Given the description of an element on the screen output the (x, y) to click on. 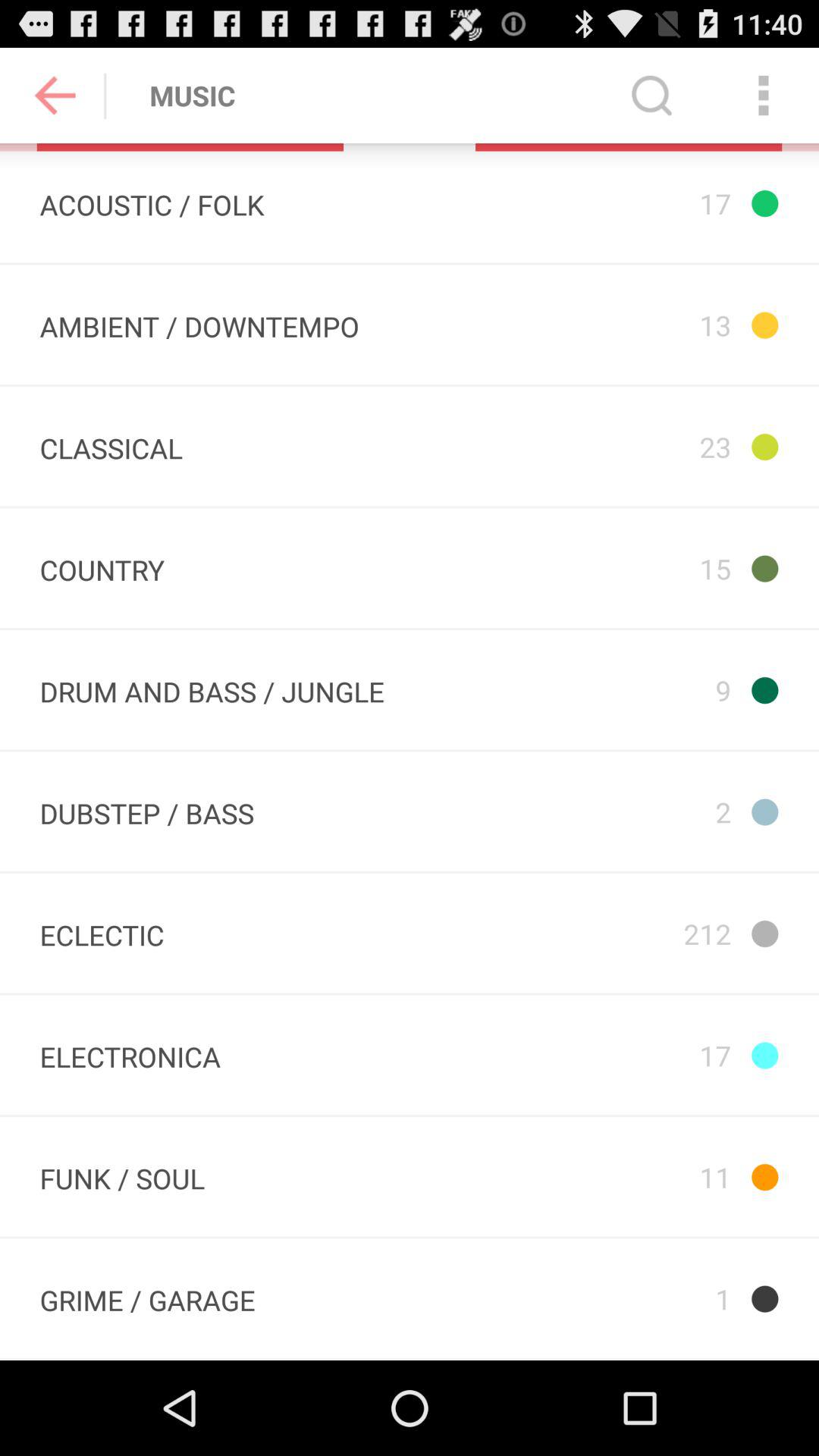
click app next to the 23 item (199, 324)
